Given the description of an element on the screen output the (x, y) to click on. 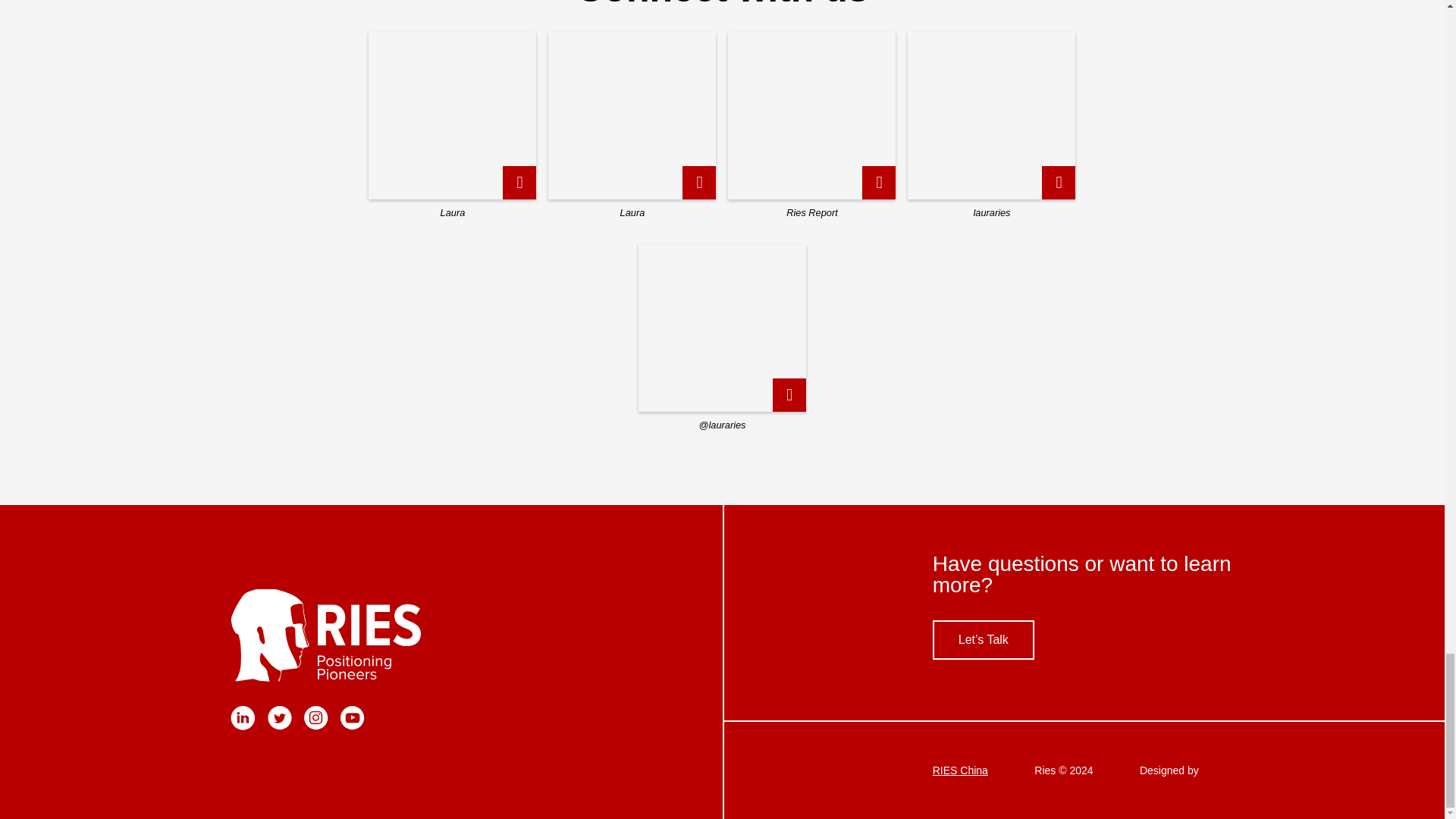
Link to YouTube (352, 725)
SYRUP (1220, 770)
Link to Twitter (279, 725)
Link to LinkedIn (243, 725)
Link to Instagram (316, 725)
RIES China (960, 770)
Ries (361, 634)
